Given the description of an element on the screen output the (x, y) to click on. 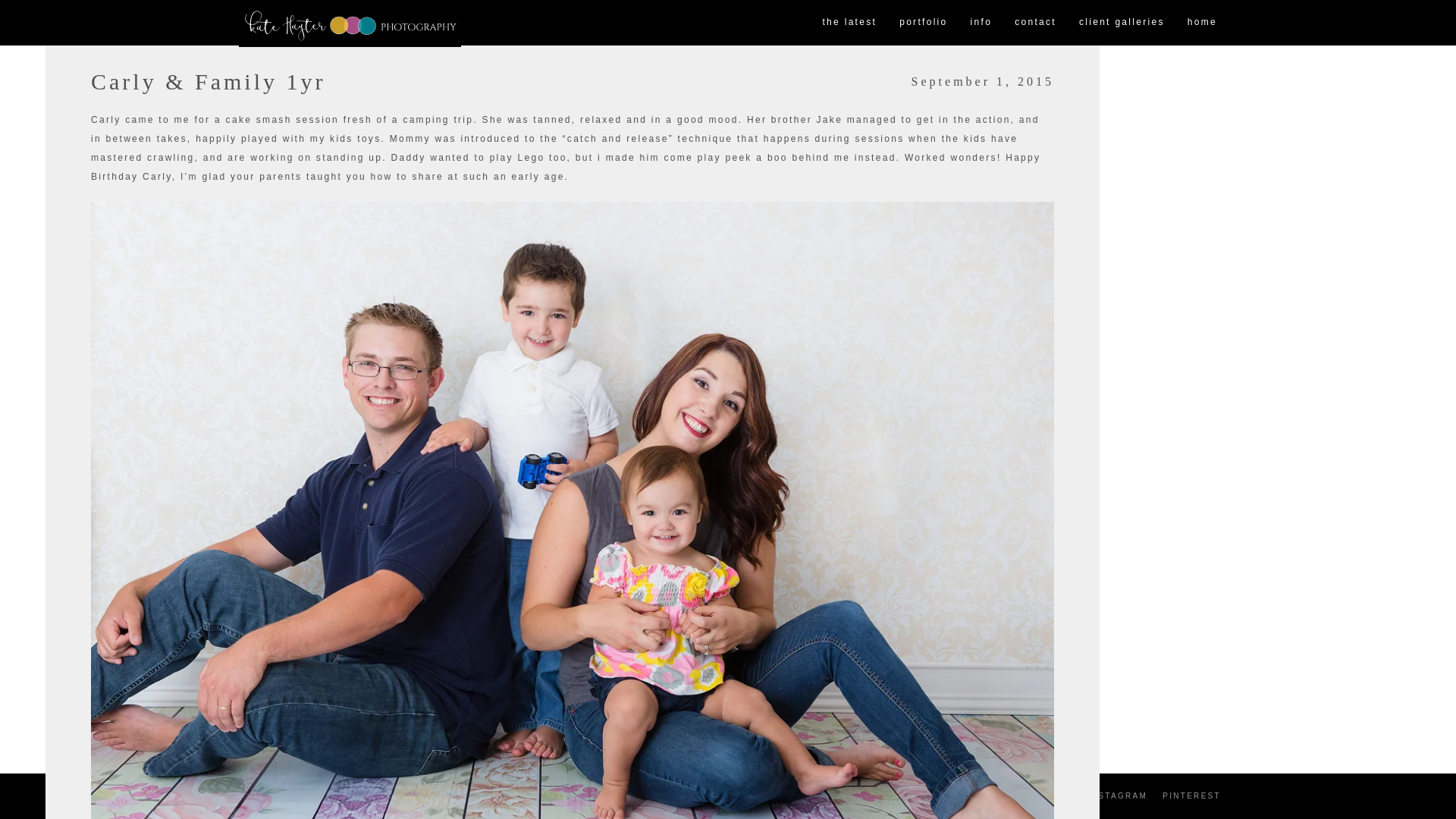
contact (1035, 22)
INSTAGRAM (1117, 796)
the latest (849, 22)
PINTEREST (1191, 796)
portfolio (923, 22)
client galleries (1121, 22)
info (981, 22)
home (1202, 22)
FACEBOOK (1043, 796)
